Given the description of an element on the screen output the (x, y) to click on. 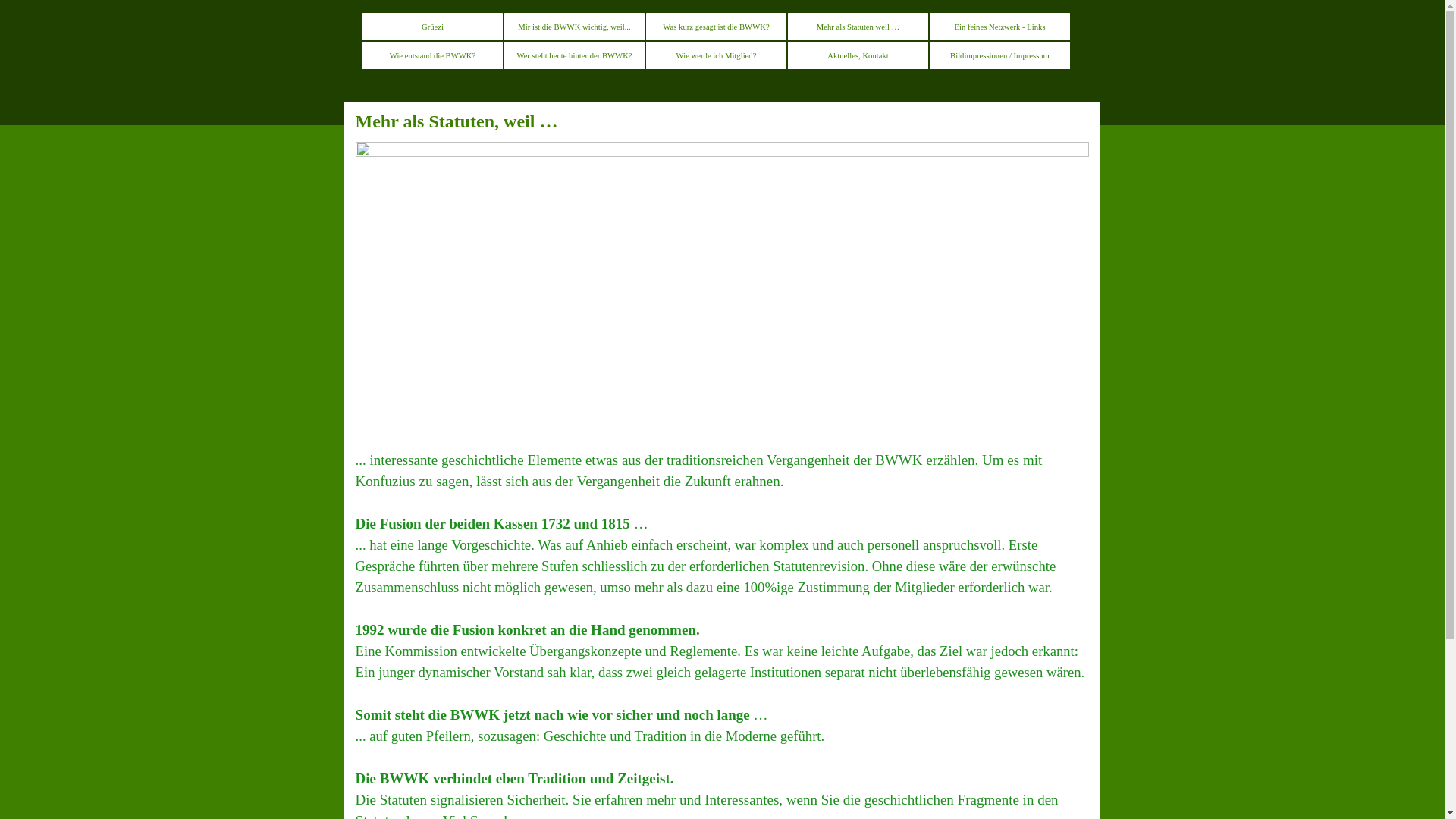
Wie entstand die BWWK? Element type: text (432, 55)
Bildimpressionen / Impressum Element type: text (999, 55)
Wie werde ich Mitglied? Element type: text (715, 55)
Ein feines Netzwerk - Links Element type: text (999, 26)
Aktuelles, Kontakt Element type: text (857, 55)
Wer steht heute hinter der BWWK? Element type: text (574, 55)
Mir ist die BWWK wichtig, weil... Element type: text (574, 26)
Was kurz gesagt ist die BWWK? Element type: text (715, 26)
